Given the description of an element on the screen output the (x, y) to click on. 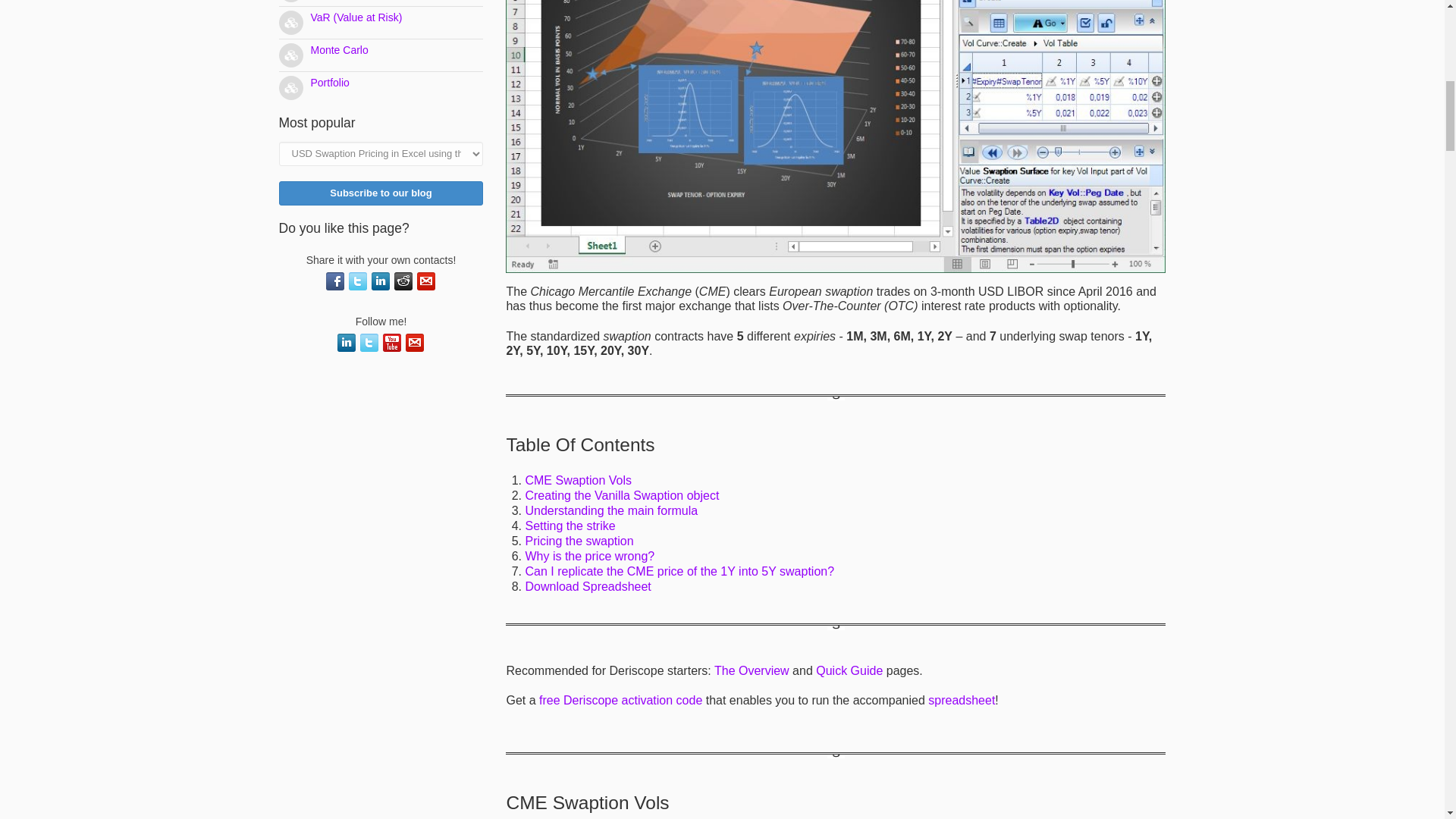
Share on Facebook (334, 280)
Share on Twitter (357, 280)
Share on LinkedIn (380, 280)
Follow us on Linkedin (346, 342)
Follow us on Youtube (391, 342)
Recommend this page (425, 280)
Share on Reddit (403, 280)
Contact Us (414, 342)
Follow us on Twitter (368, 342)
